Given the description of an element on the screen output the (x, y) to click on. 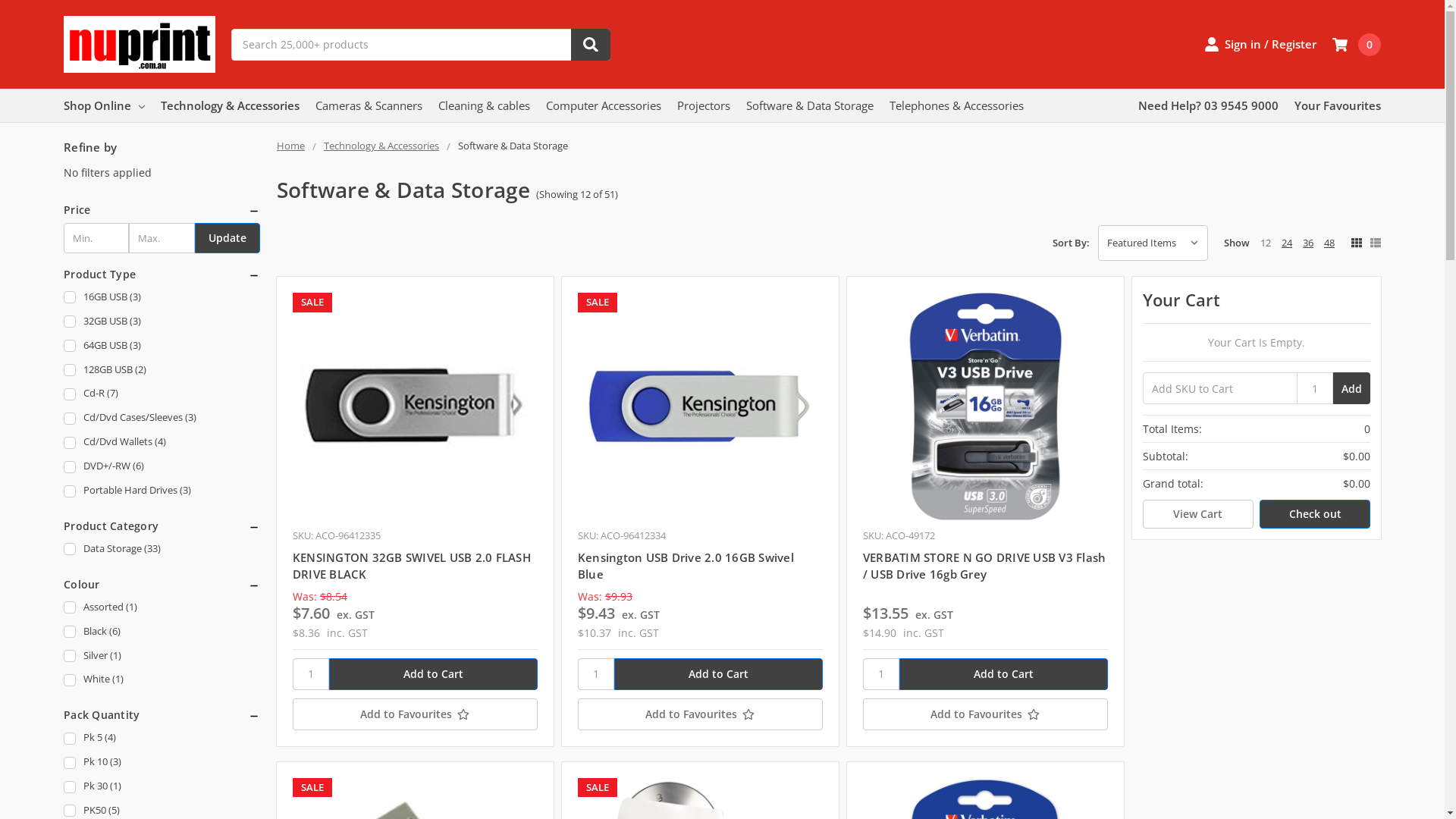
VERBATIM STORE N GO DRIVE USB V3 Flash / USB Drive 16gb Grey Element type: hover (984, 406)
Add to Cart Element type: text (718, 674)
Telephones & Accessories Element type: text (956, 105)
Check out Element type: text (1314, 513)
Black (6) Element type: text (161, 631)
48 Element type: text (1329, 242)
Your Favourites Element type: text (1337, 105)
NuPrint Office Supplies Element type: hover (139, 43)
Pk 30 (1) Element type: text (161, 786)
Projectors Element type: text (703, 105)
12 Element type: text (1265, 242)
SALE Element type: text (699, 406)
Cd/Dvd Wallets (4) Element type: text (161, 442)
Portable Hard Drives (3) Element type: text (161, 490)
White (1) Element type: text (161, 679)
KENSINGTON 32GB SWIVEL USB 2.0 FLASH DRIVE BLACK Element type: text (411, 565)
36 Element type: text (1307, 242)
Shop Online Element type: text (103, 105)
Pk 5 (4) Element type: text (161, 738)
Kensington USB Drive 2.0 16GB Swivel Blue Element type: text (685, 565)
Technology & Accessories Element type: text (229, 105)
KENSINGTON 32GB SWIVEL USB 2.0 FLASH DRIVE BLACK Element type: hover (414, 406)
Kensington USB Drive 2.0 16GB Swivel Blue Element type: hover (699, 406)
Need Help? 03 9545 9000 Element type: text (1208, 105)
Assorted (1) Element type: text (161, 607)
32GB USB (3) Element type: text (161, 321)
64GB USB (3) Element type: text (161, 345)
Software & Data Storage Element type: text (809, 105)
Add to Favourites Element type: text (984, 714)
Sign in / Register Element type: text (1260, 43)
Add to Cart Element type: text (1003, 674)
0 Element type: text (1356, 44)
VERBATIM STORE N GO DRIVE USB V3 Flash / USB Drive 16gb Grey Element type: text (984, 565)
Cd-R (7) Element type: text (161, 393)
Cd/Dvd Cases/Sleeves (3) Element type: text (161, 417)
Technology & Accessories Element type: text (381, 145)
Add to Favourites Element type: text (414, 714)
Cameras & Scanners Element type: text (368, 105)
Cleaning & cables Element type: text (484, 105)
Pk 10 (3) Element type: text (161, 762)
Update Element type: text (227, 237)
Home Element type: text (290, 145)
Add to Favourites Element type: text (699, 714)
Computer Accessories Element type: text (603, 105)
16GB USB (3) Element type: text (161, 297)
DVD+/-RW (6) Element type: text (161, 466)
Add to Cart Element type: text (433, 674)
SALE Element type: text (414, 406)
Silver (1) Element type: text (161, 656)
128GB USB (2) Element type: text (161, 370)
View Cart Element type: text (1197, 513)
Data Storage (33) Element type: text (161, 549)
24 Element type: text (1286, 242)
Add Element type: text (1351, 388)
